Given the description of an element on the screen output the (x, y) to click on. 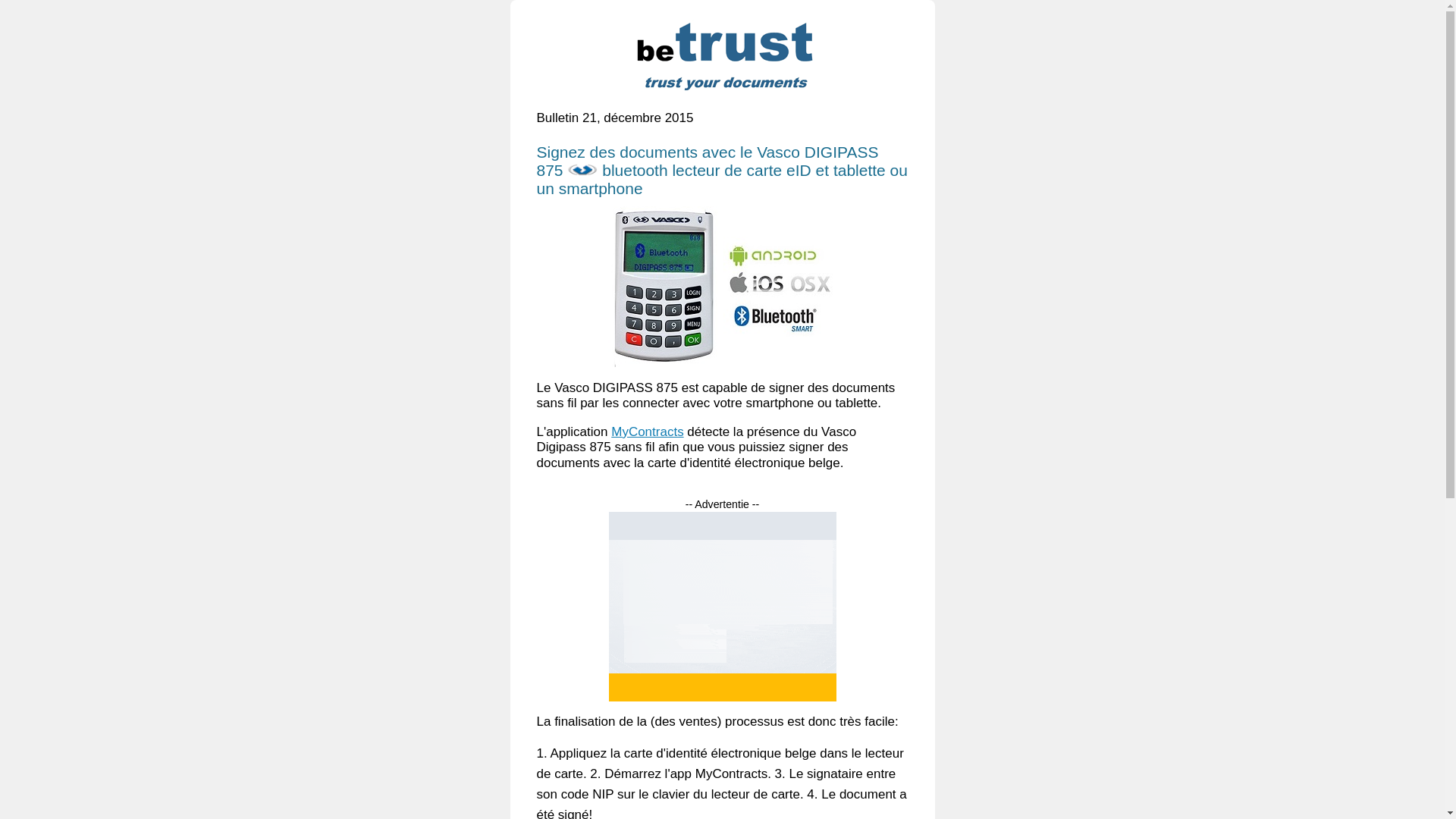
MyContracts Element type: text (647, 431)
